Given the description of an element on the screen output the (x, y) to click on. 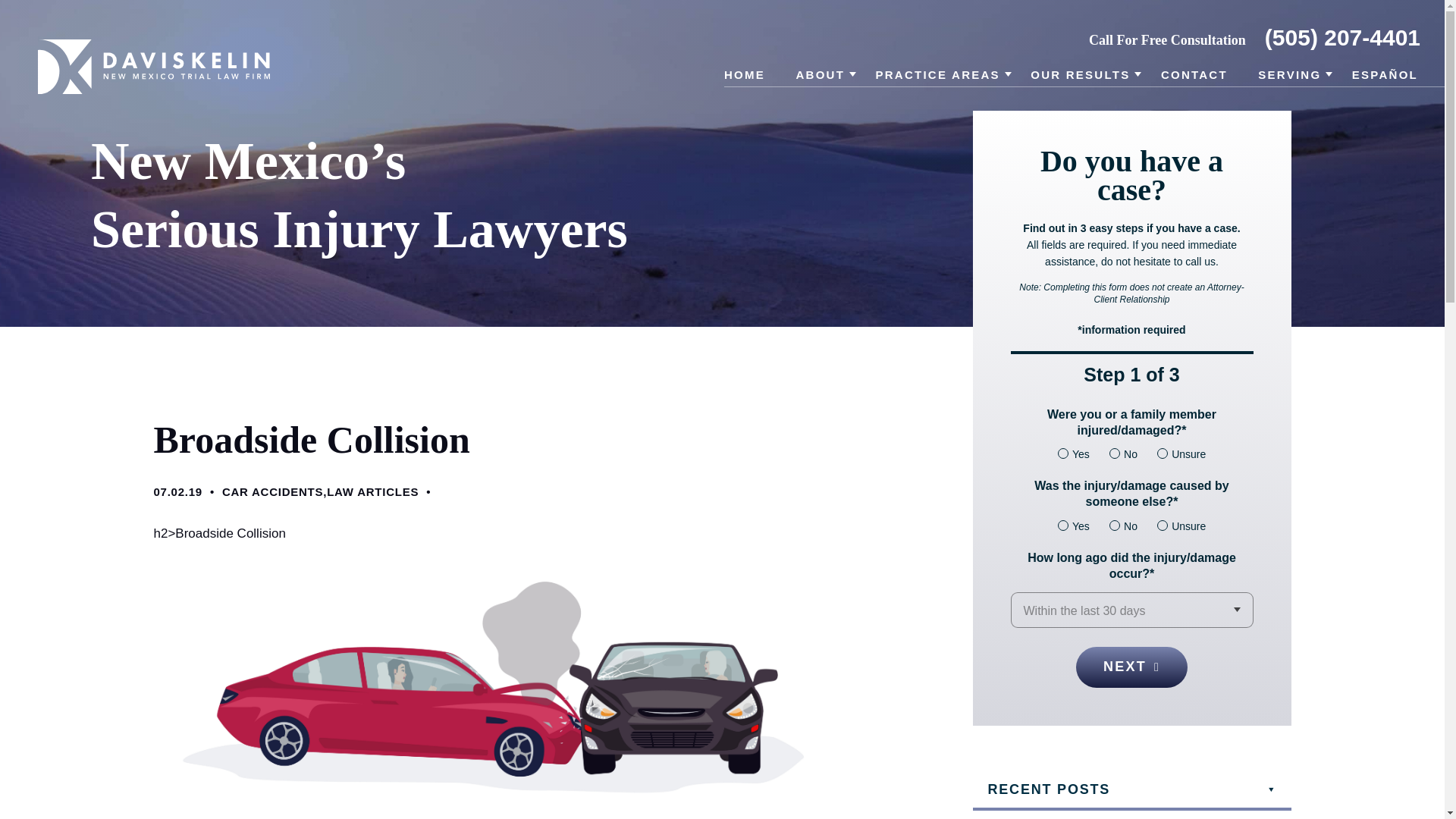
LAW ARTICLES (372, 491)
PRACTICE AREAS (938, 76)
NEXT (1131, 667)
SERVING (1288, 76)
OUR RESULTS (1079, 76)
CONTACT (1193, 76)
ABOUT (819, 76)
CAR ACCIDENTS (272, 491)
HOME (744, 76)
